Given the description of an element on the screen output the (x, y) to click on. 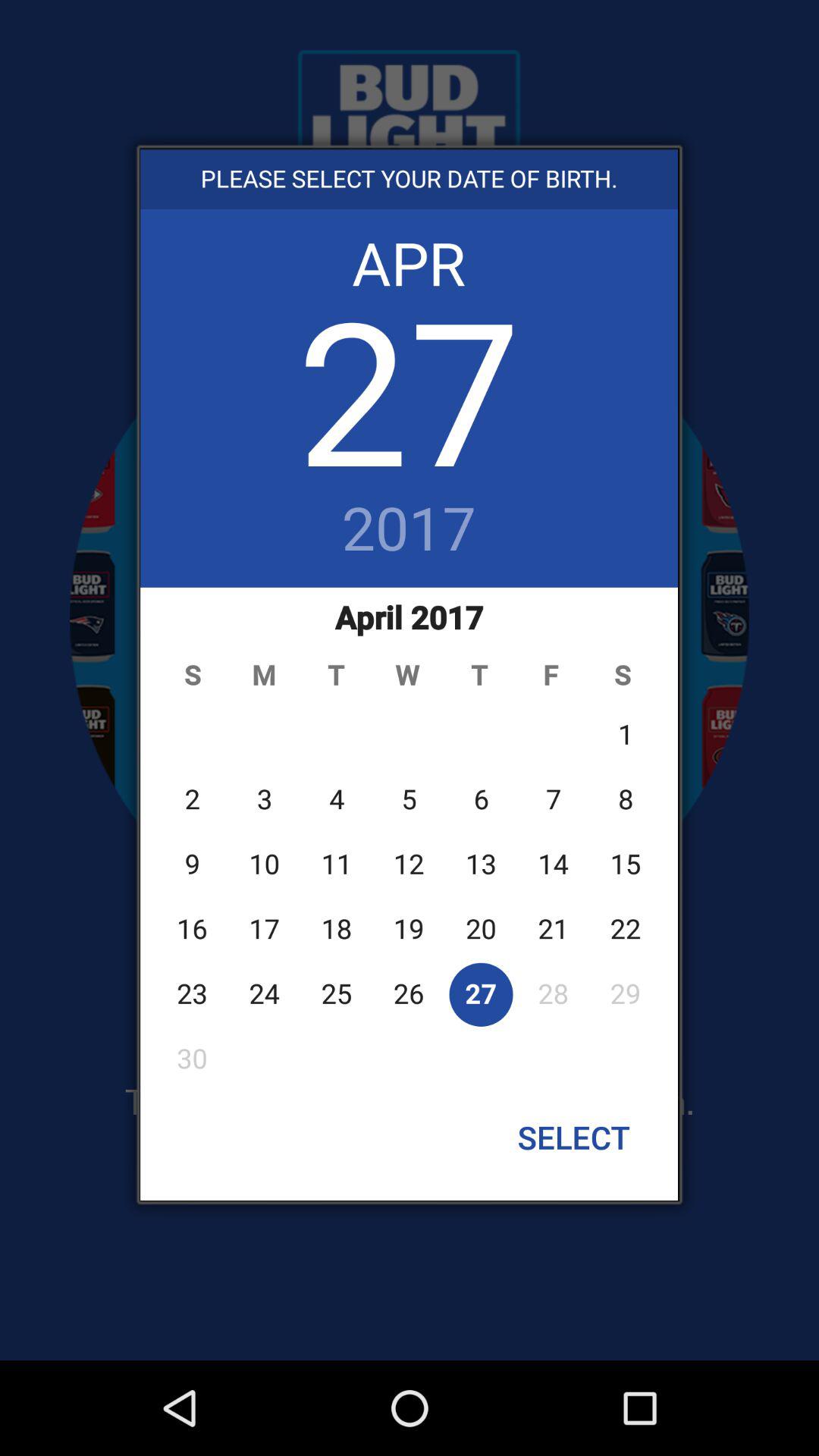
press the 2017 (408, 530)
